Given the description of an element on the screen output the (x, y) to click on. 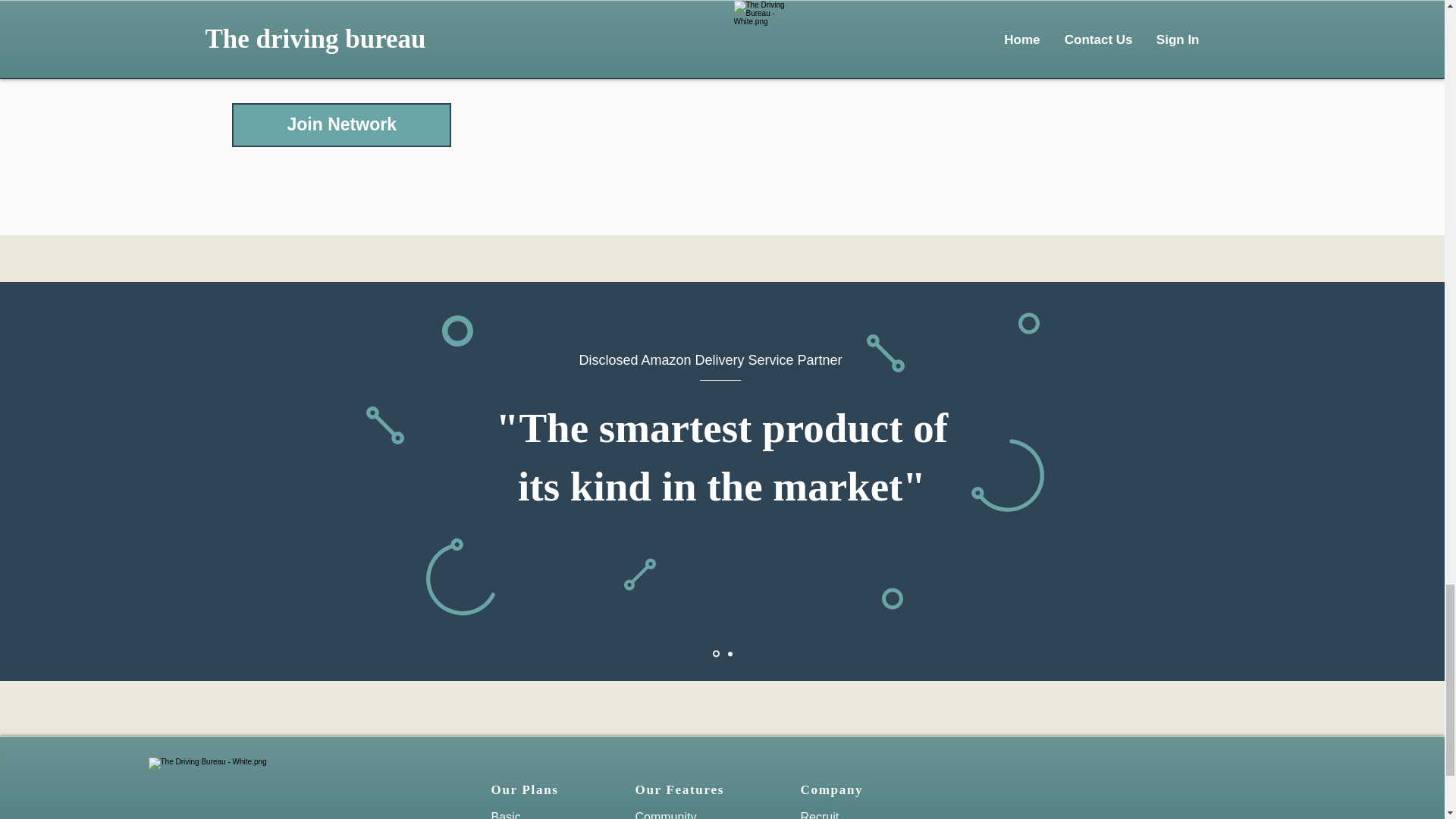
Basic (506, 814)
Recruit (820, 814)
Join Network (341, 125)
